Given the description of an element on the screen output the (x, y) to click on. 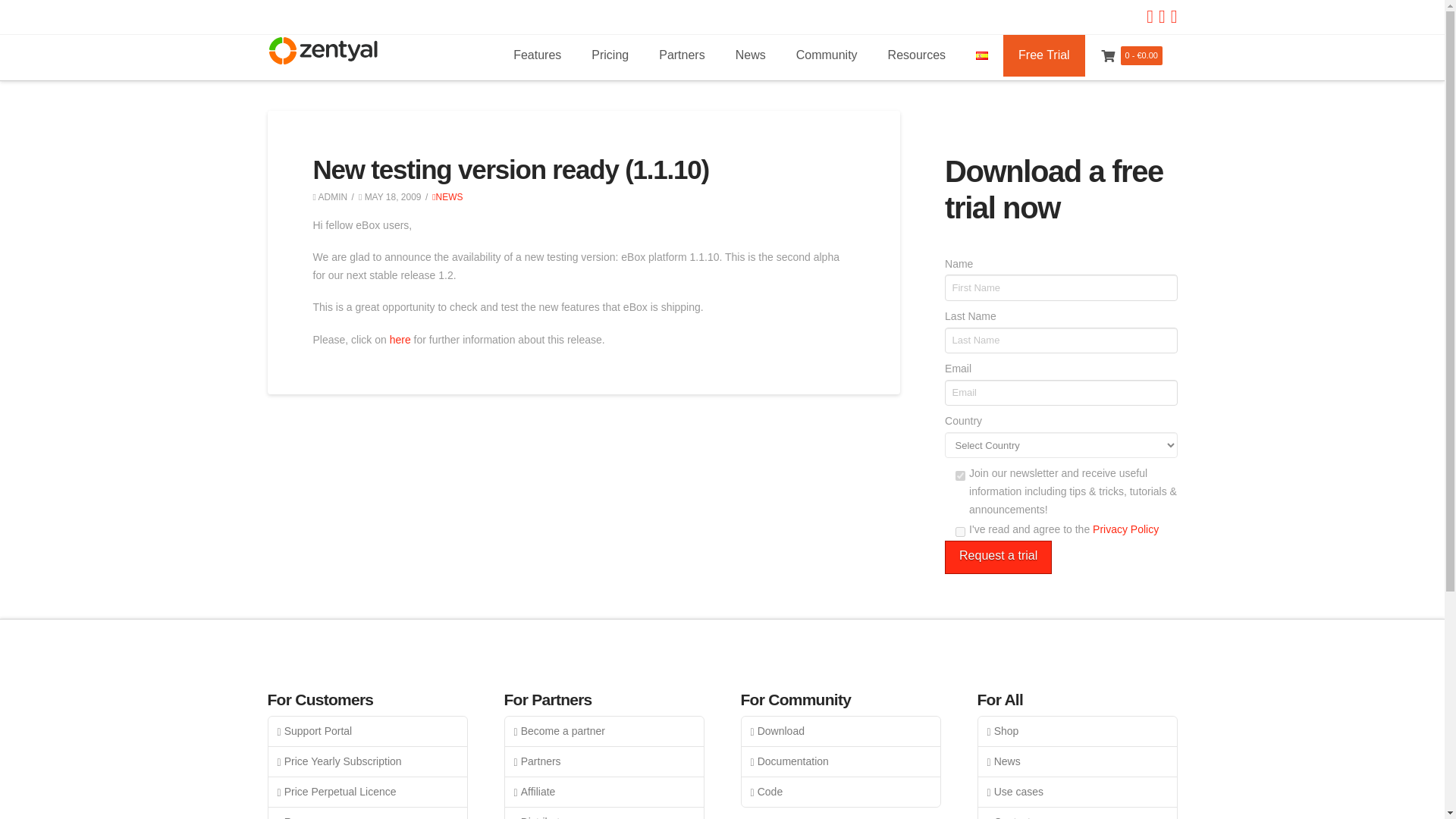
1 (960, 532)
News (1077, 761)
Request a trial (997, 557)
Download (840, 731)
Cart (1108, 55)
Free Trial (1043, 55)
here (400, 339)
Shop (1077, 731)
Distributor (604, 813)
see privacy policy (1125, 529)
Affiliate (604, 792)
Support Portal (367, 731)
Use cases (1077, 792)
Pricing (609, 55)
Partners (604, 761)
